Given the description of an element on the screen output the (x, y) to click on. 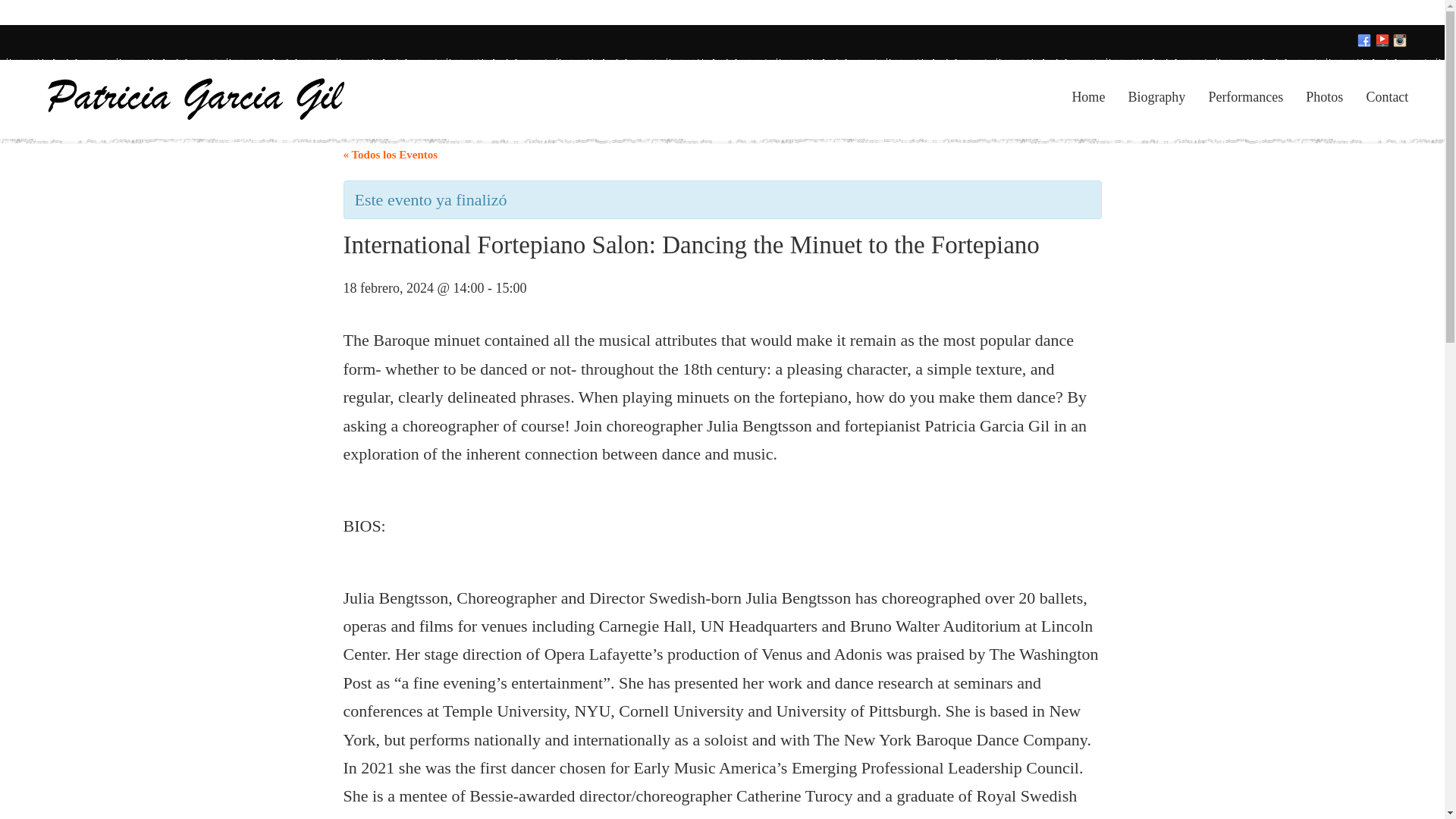
Instagram (1400, 40)
Photos (1324, 97)
Home (1088, 97)
Performances (1245, 97)
Facebook (1364, 40)
Youtube (1382, 40)
Contact (1386, 97)
Biography (1155, 97)
